Given the description of an element on the screen output the (x, y) to click on. 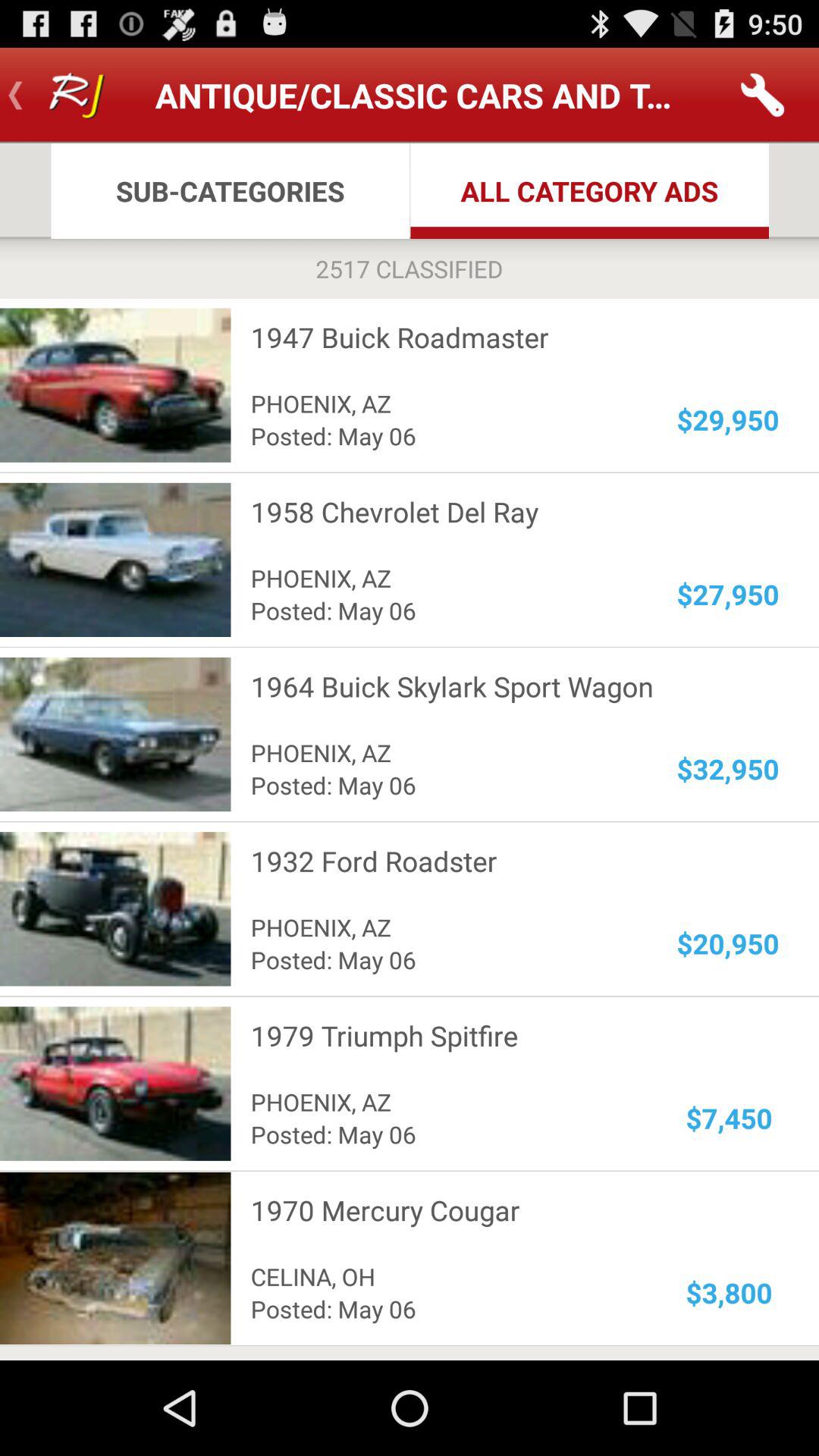
turn on app above all category ads icon (763, 95)
